Given the description of an element on the screen output the (x, y) to click on. 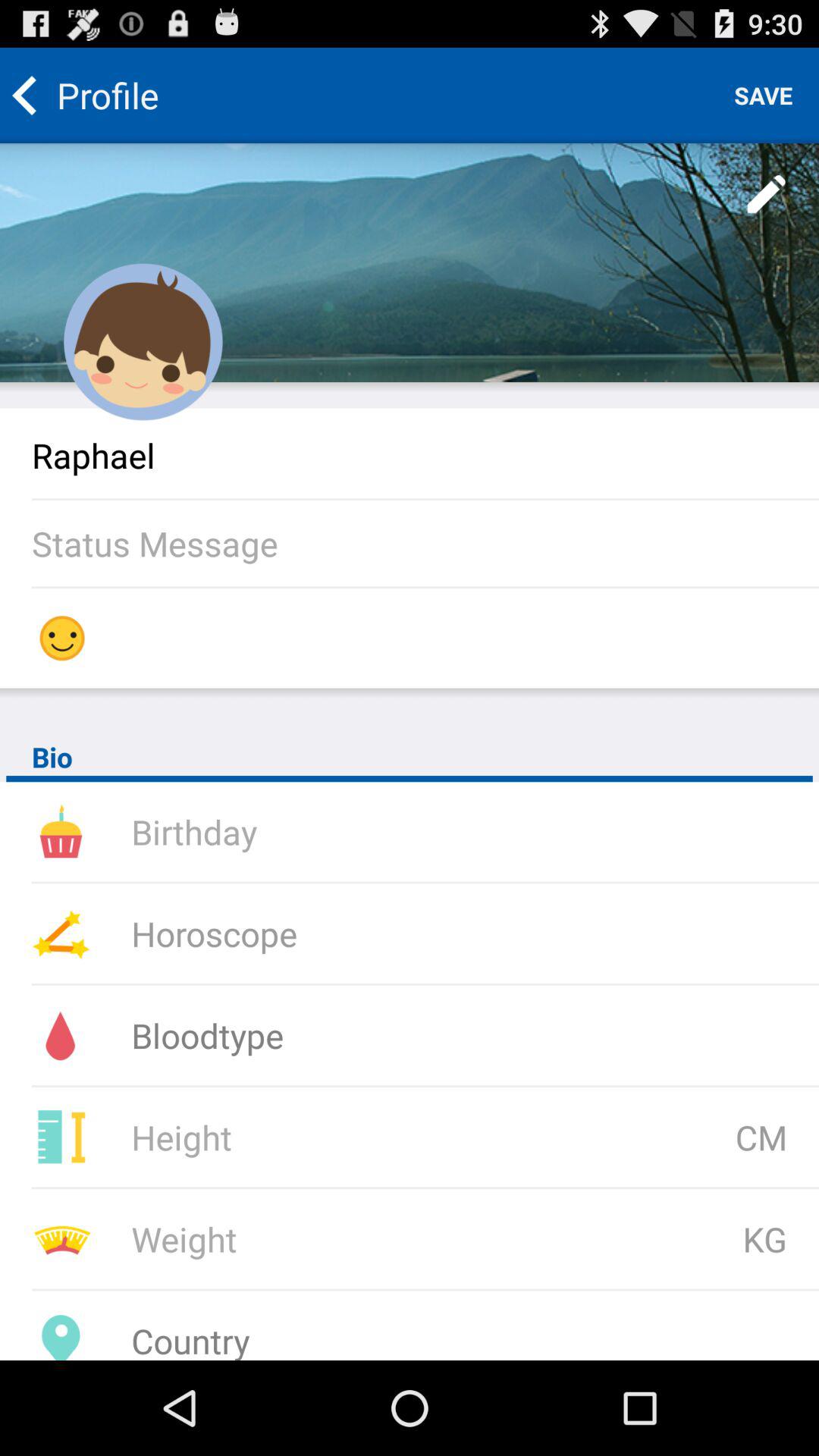
edit profile wallpaper (409, 262)
